Given the description of an element on the screen output the (x, y) to click on. 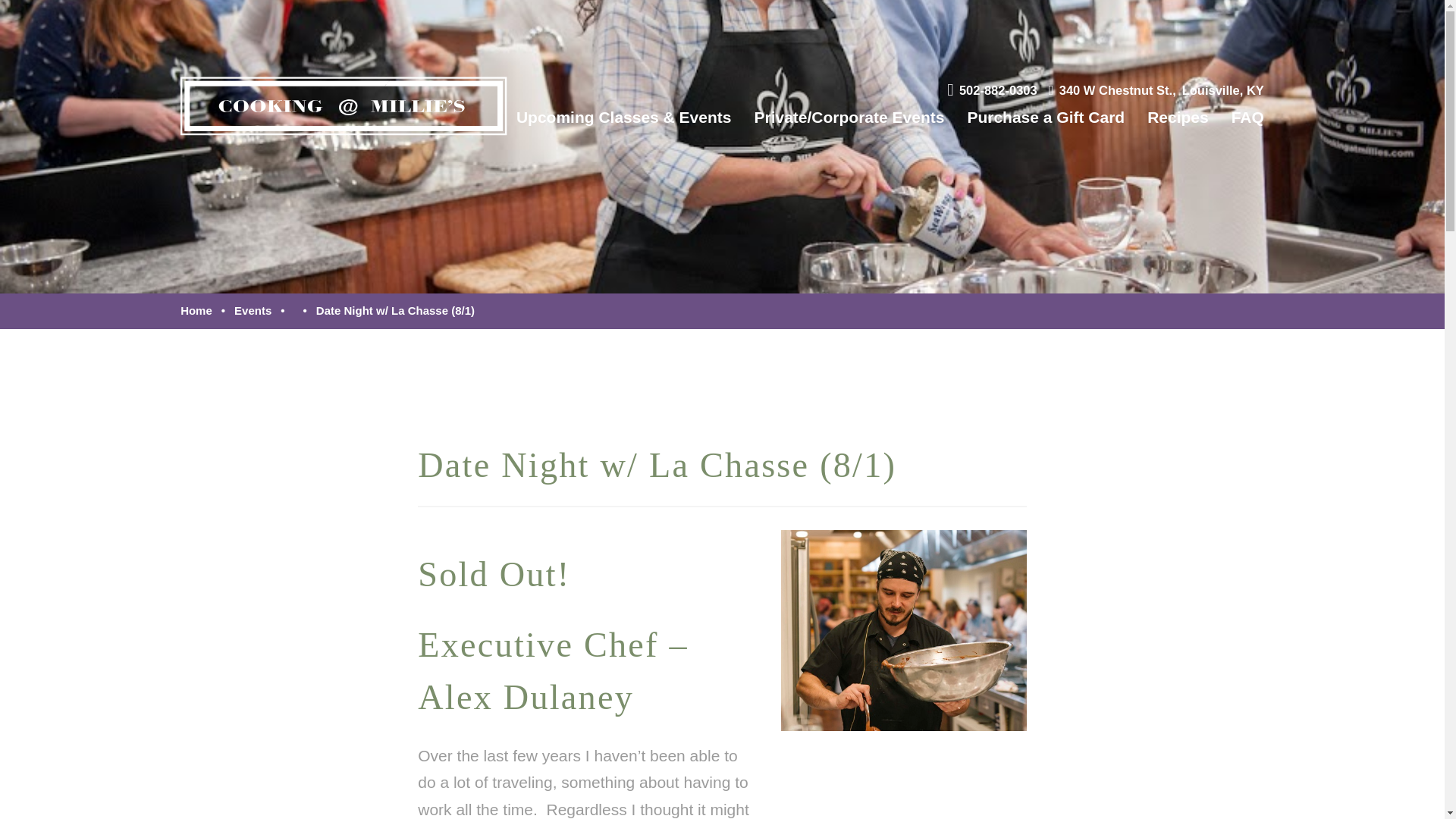
Events (252, 309)
Home (196, 309)
Purchase a Gift Card (1045, 117)
FAQ (1247, 117)
Recipes (1155, 90)
502-882-0303 (1177, 117)
